Given the description of an element on the screen output the (x, y) to click on. 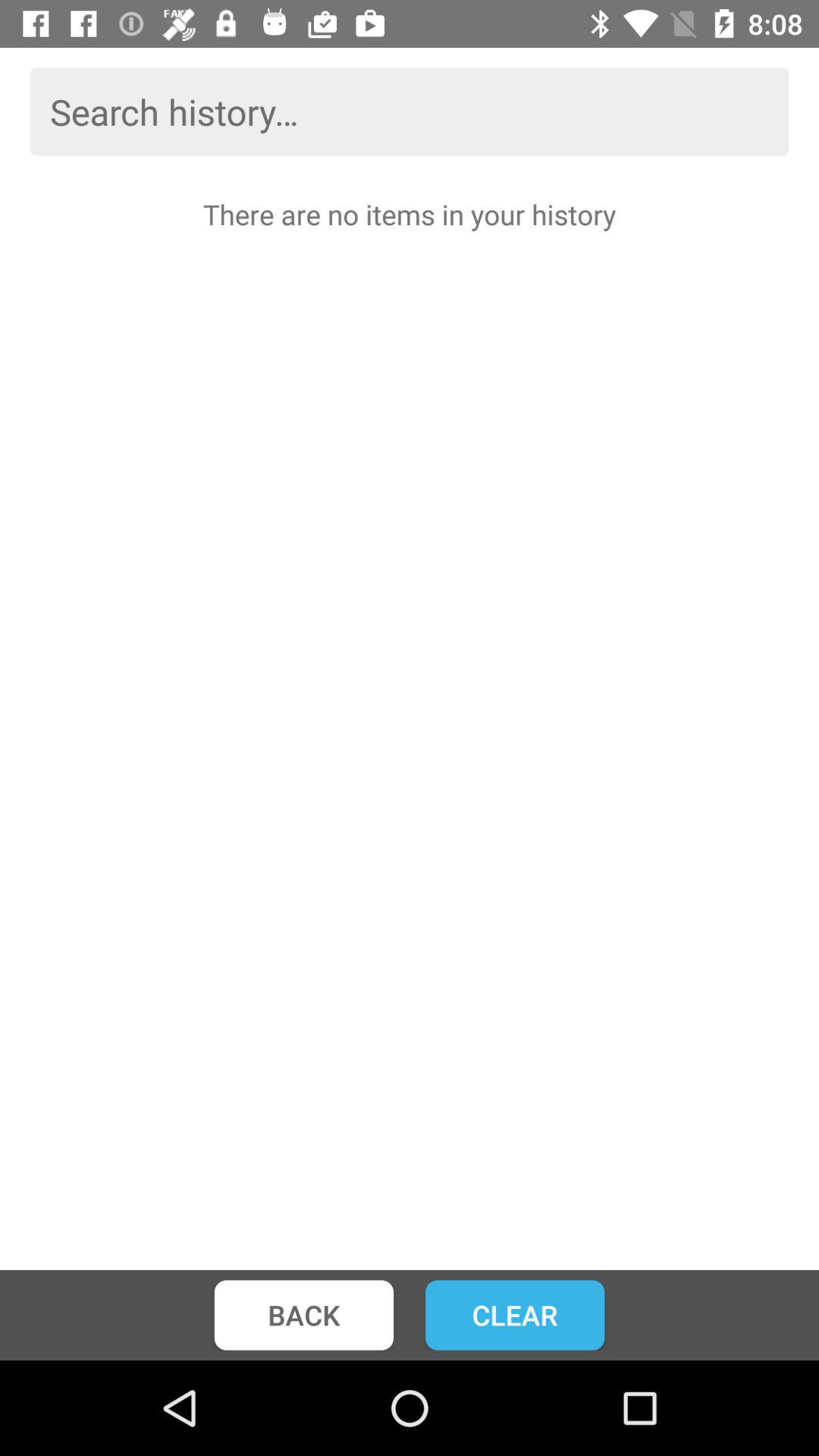
swipe until the clear (514, 1315)
